Given the description of an element on the screen output the (x, y) to click on. 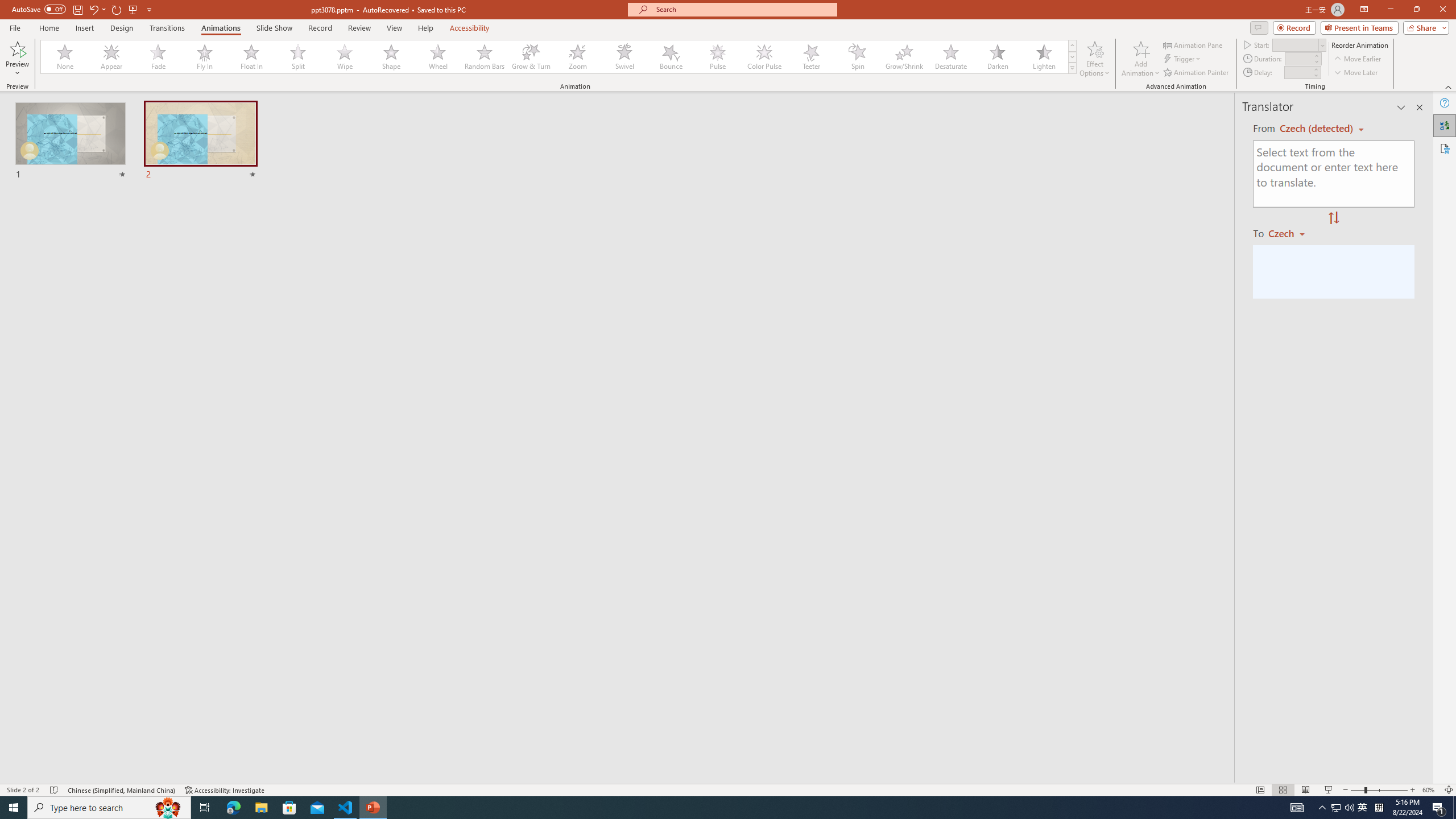
Czech (1291, 232)
Desaturate (950, 56)
Teeter (810, 56)
Move Earlier (1357, 58)
Random Bars (484, 56)
